Given the description of an element on the screen output the (x, y) to click on. 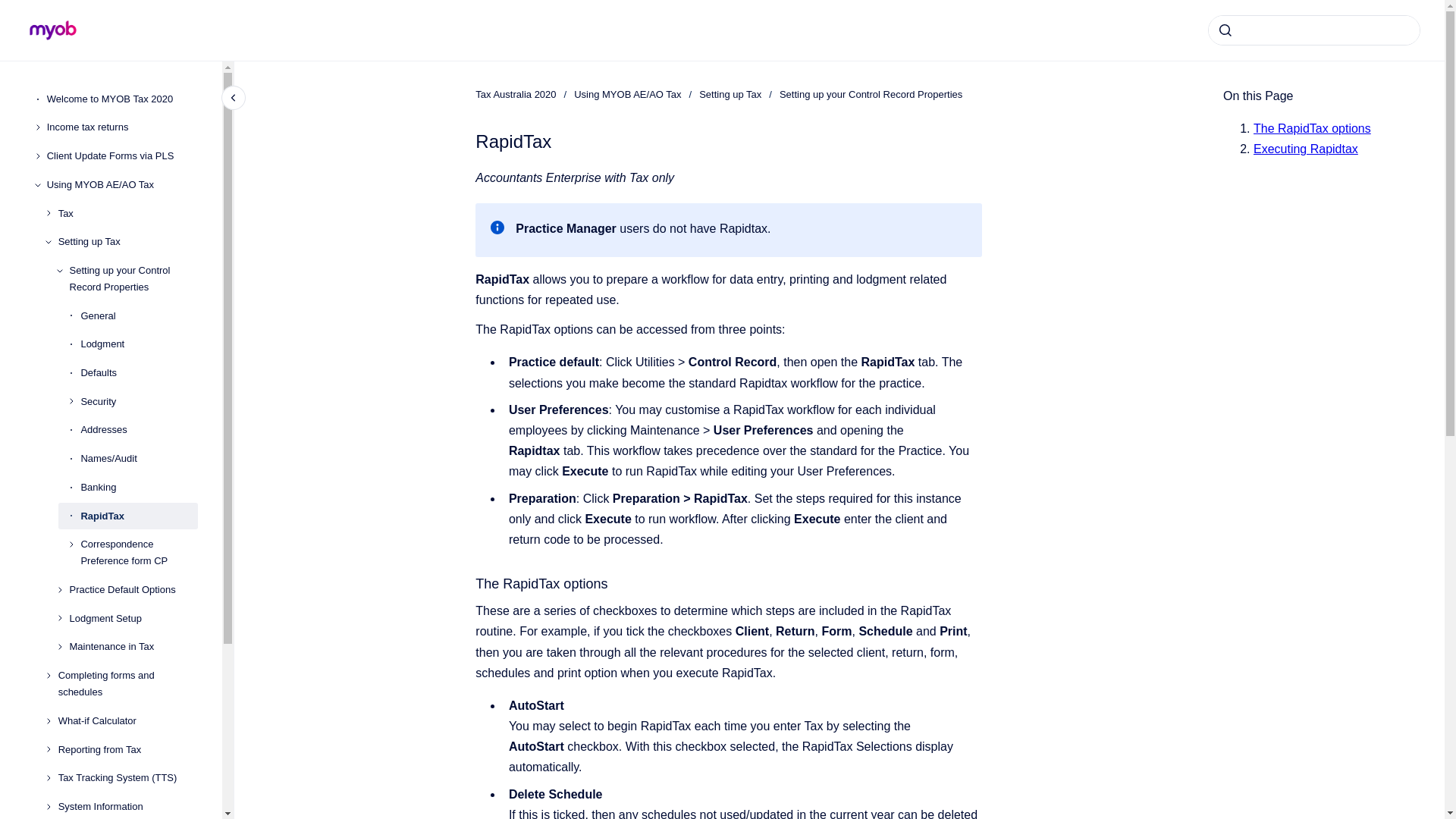
Completing forms and schedules (128, 683)
Lodgment (139, 344)
Correspondence Preference form CP (139, 552)
Go to homepage (52, 30)
Setting up your Control Record Properties (133, 279)
Client Update Forms via PLS (122, 155)
Lodgment Setup (133, 618)
Setting up Tax (128, 241)
Reporting from Tax (128, 749)
Practice Default Options (133, 589)
Income tax returns (122, 127)
Banking (139, 487)
Tax (128, 213)
Welcome to MYOB Tax 2020 (122, 99)
Defaults (139, 372)
